Given the description of an element on the screen output the (x, y) to click on. 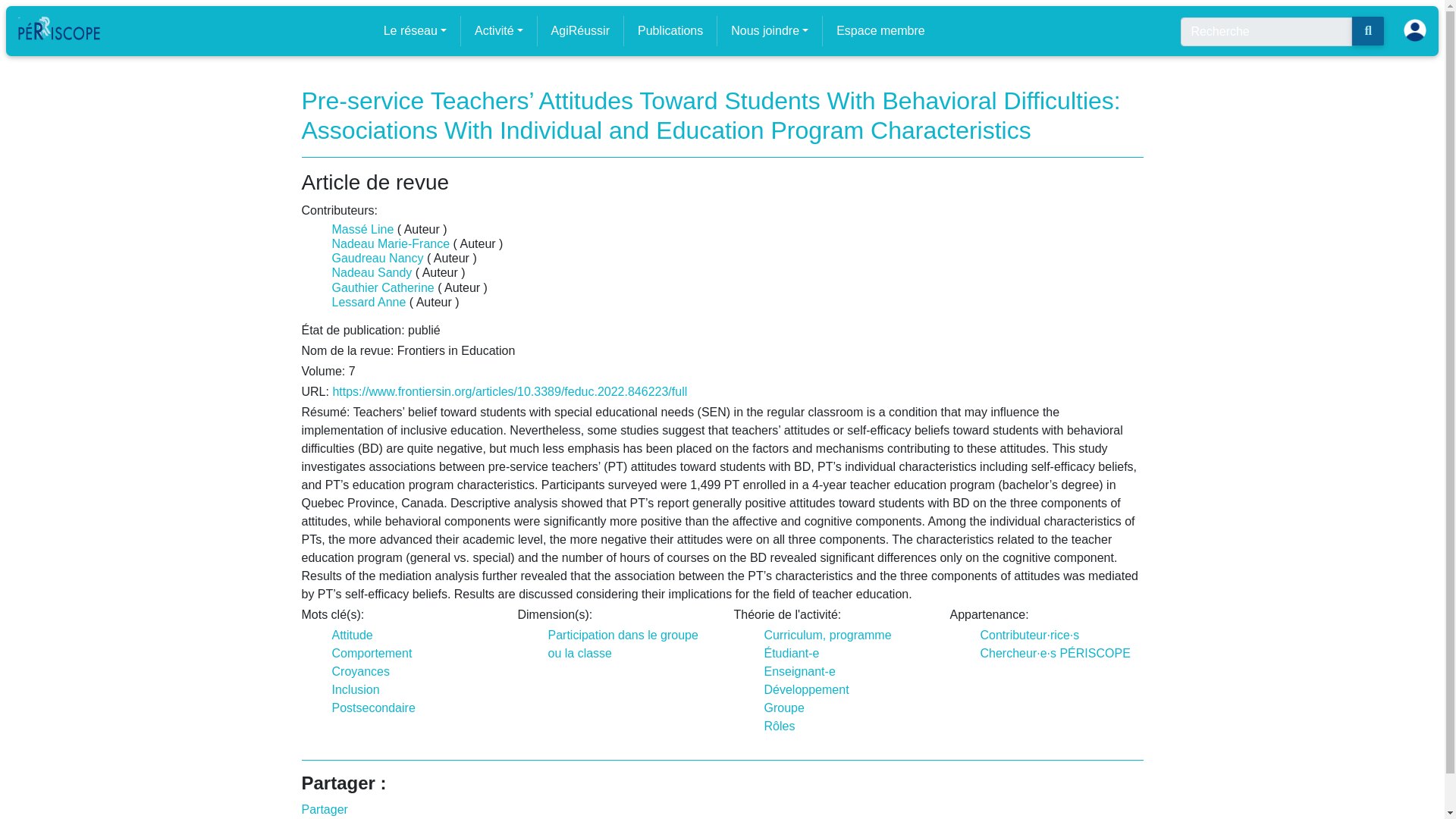
Publications (670, 30)
Gaudreau Nancy (377, 257)
Espace membre (880, 30)
Nadeau Marie-France (390, 243)
Gauthier Catherine (382, 287)
Nous joindre (769, 30)
Nadeau Sandy (371, 272)
